Given the description of an element on the screen output the (x, y) to click on. 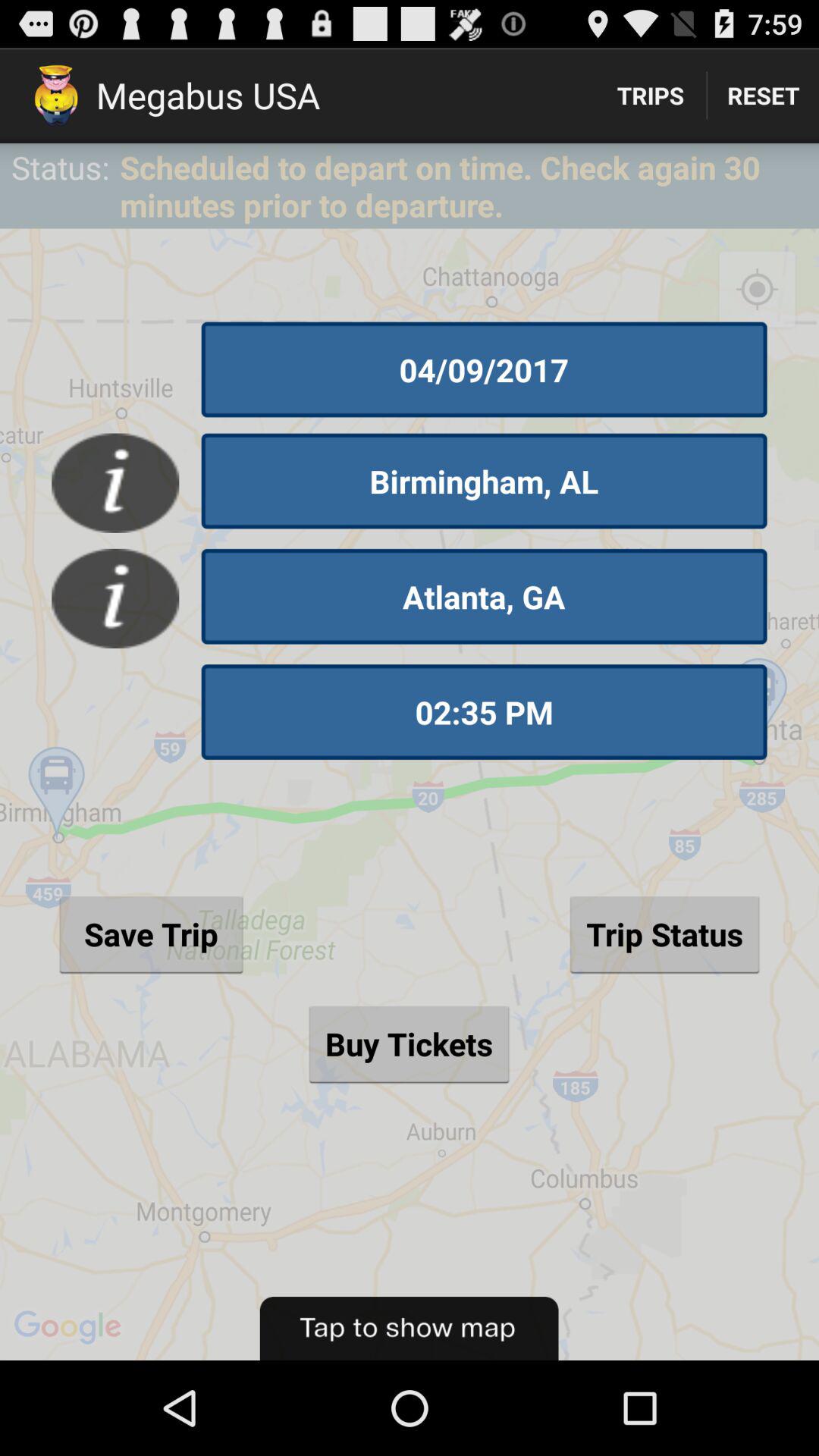
tap the item below buy tickets button (408, 1328)
